Given the description of an element on the screen output the (x, y) to click on. 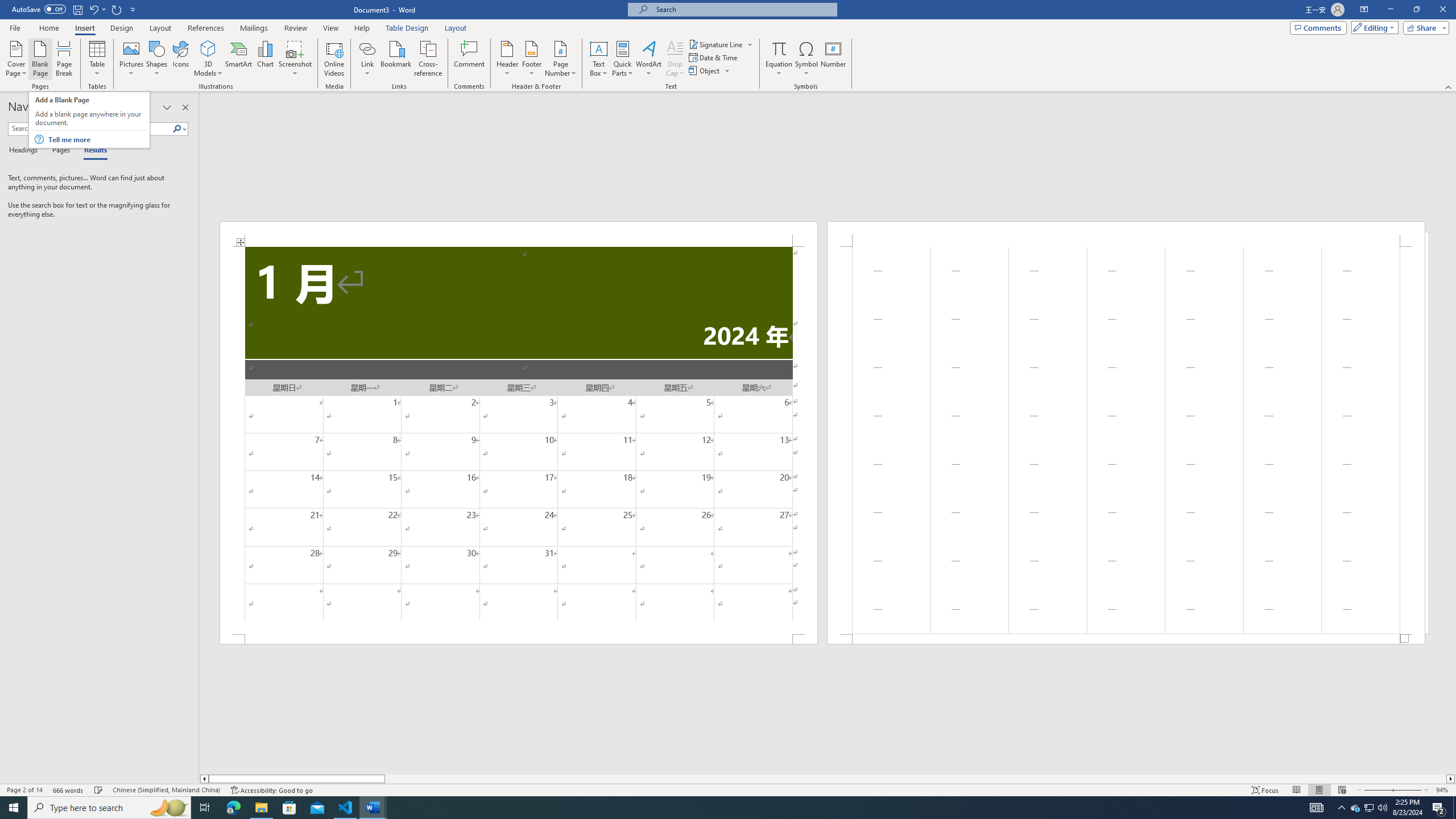
Tell me more (96, 139)
Page Number Page 2 of 14 (24, 790)
Quick Parts (622, 58)
Screenshot (295, 58)
Repeat Doc Close (117, 9)
Cross-reference... (428, 58)
Shapes (156, 58)
Undo Apply Quick Style (96, 9)
Signature Line (716, 44)
